Given the description of an element on the screen output the (x, y) to click on. 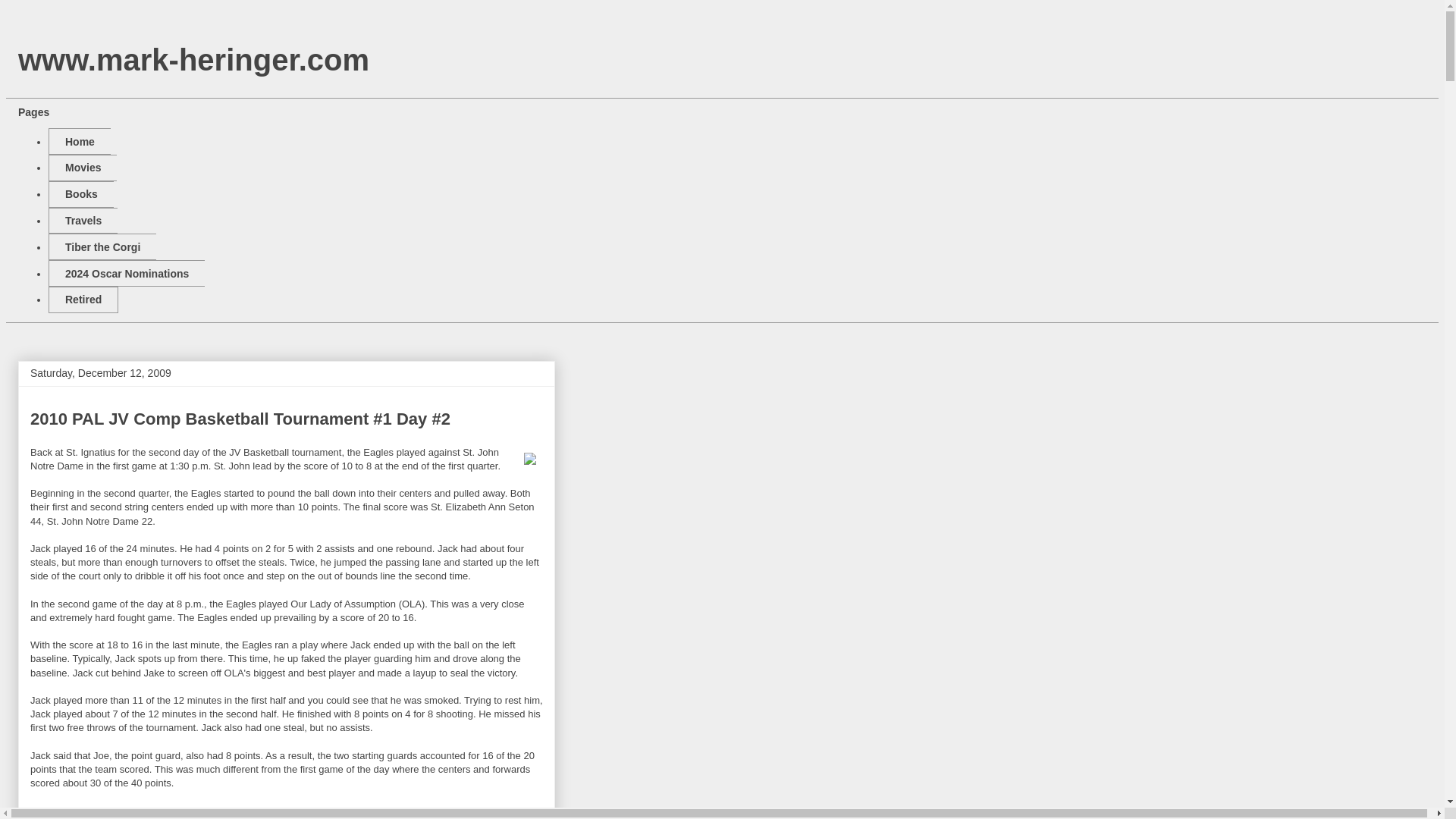
www.mark-heringer.com (193, 59)
Home (79, 140)
Books (80, 194)
Retired (82, 299)
2024 Oscar Nominations (126, 273)
Travels (82, 221)
Movies (82, 167)
Tiber the Corgi (101, 246)
